Given the description of an element on the screen output the (x, y) to click on. 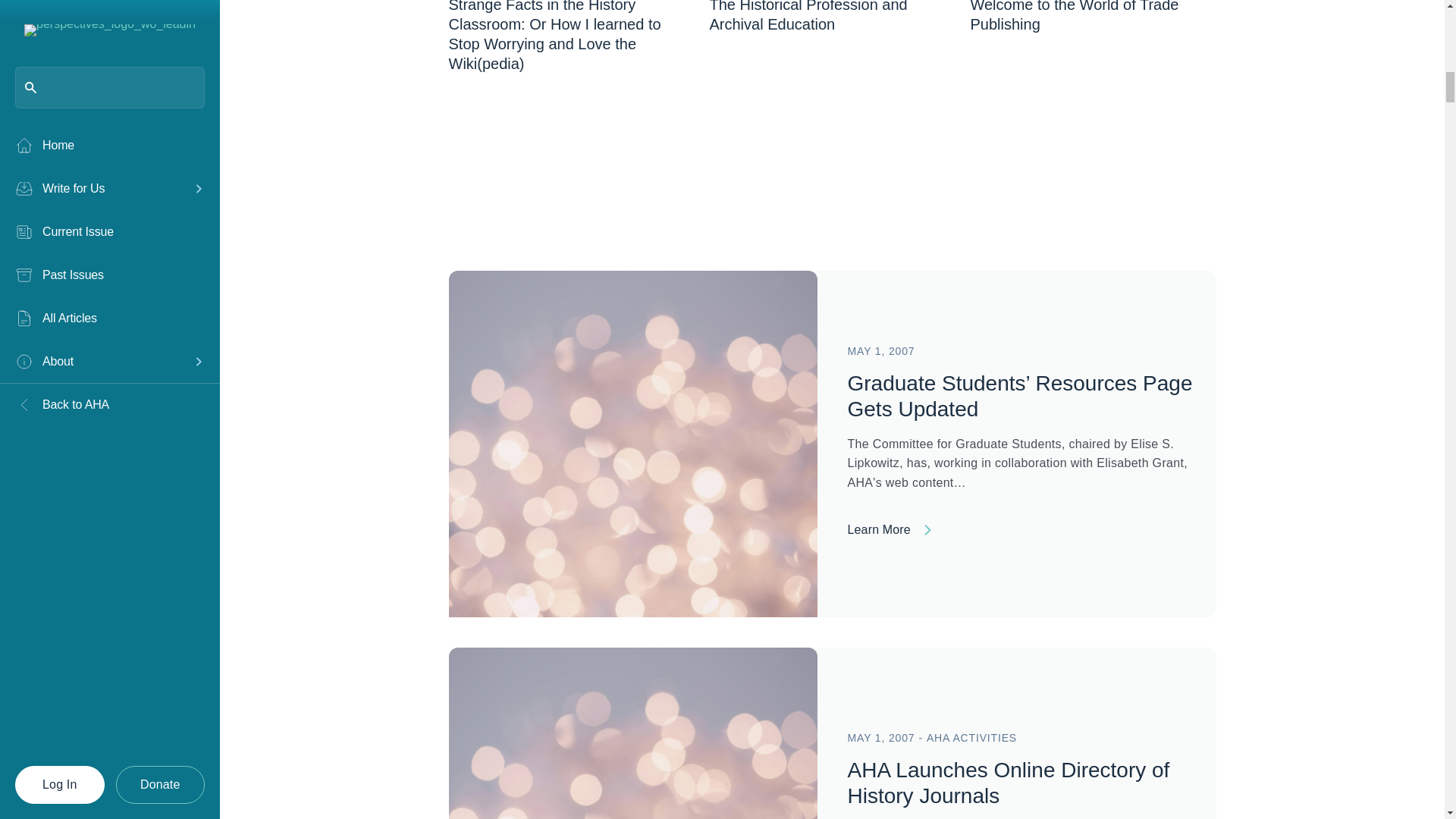
AHA Launches Online Directory of History Journals (1008, 782)
The Historical Profession and Archival Education (808, 16)
AHA Launches Online Directory of History Journals (632, 816)
Welcome to the World of Trade Publishing (1073, 16)
